Given the description of an element on the screen output the (x, y) to click on. 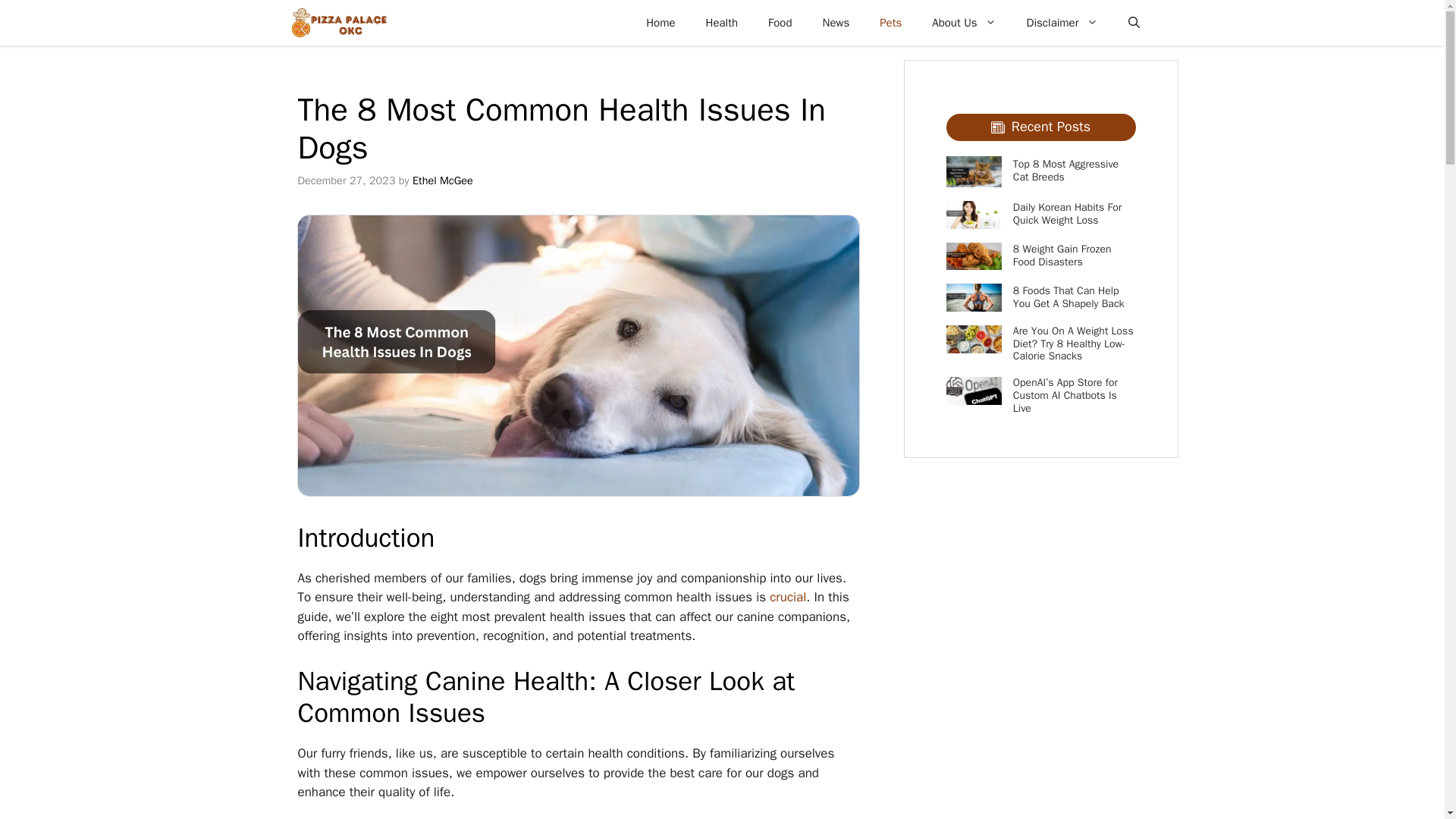
8 Weight Gain Frozen Food Disasters (1062, 255)
Top 8 Most Aggressive Cat Breeds (1065, 170)
Health (722, 22)
Ethel McGee (442, 180)
Food (779, 22)
View all posts by Ethel McGee (442, 180)
Pets (890, 22)
Disclaimer (1062, 22)
Home (660, 22)
Pizza Palace OKC (338, 22)
